Given the description of an element on the screen output the (x, y) to click on. 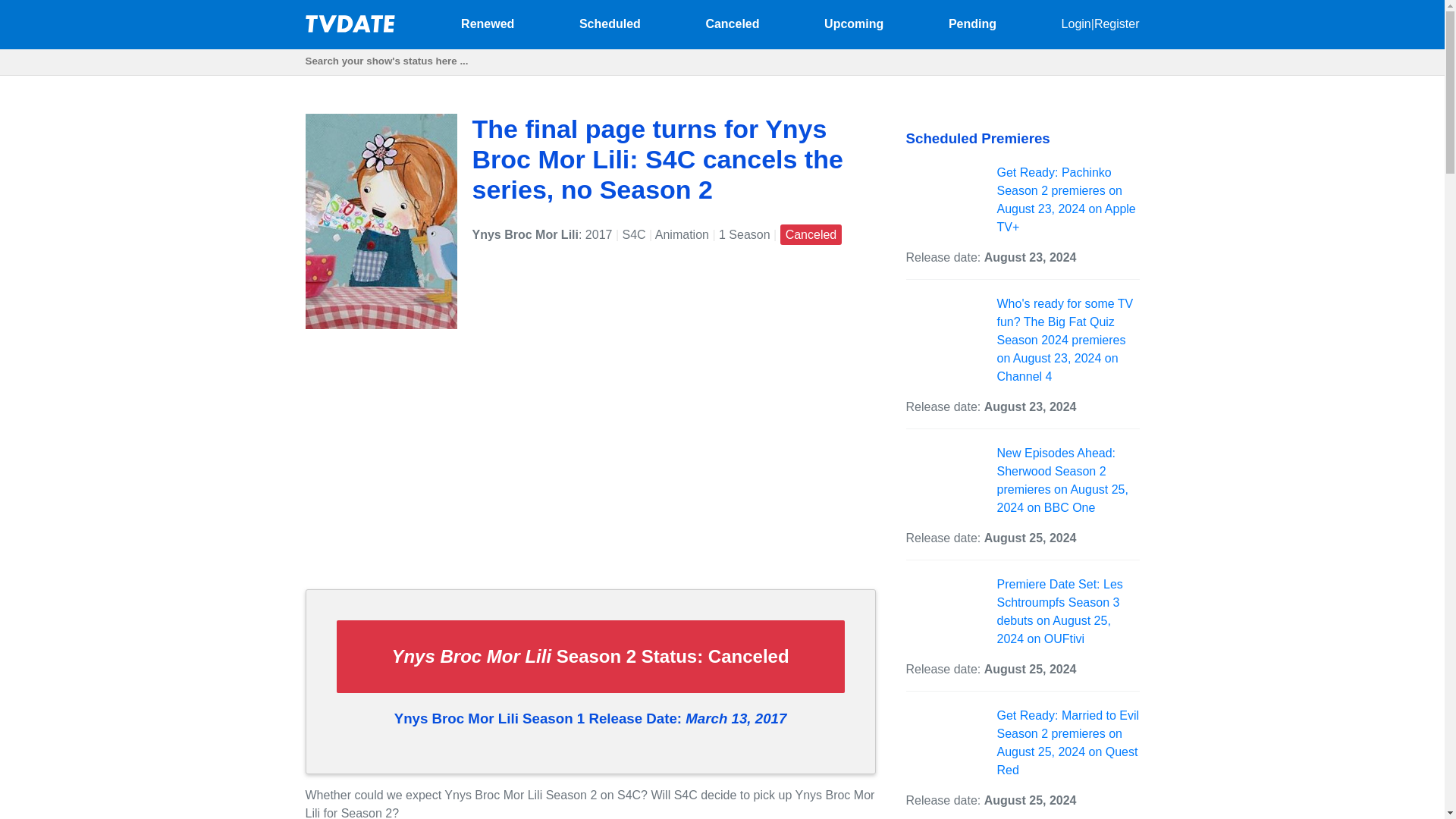
Login (1075, 23)
Canceled (731, 23)
Renewed (487, 23)
Upcoming (853, 23)
Pending (972, 23)
Scheduled (609, 23)
Advertisement (589, 470)
Register (1117, 23)
